Given the description of an element on the screen output the (x, y) to click on. 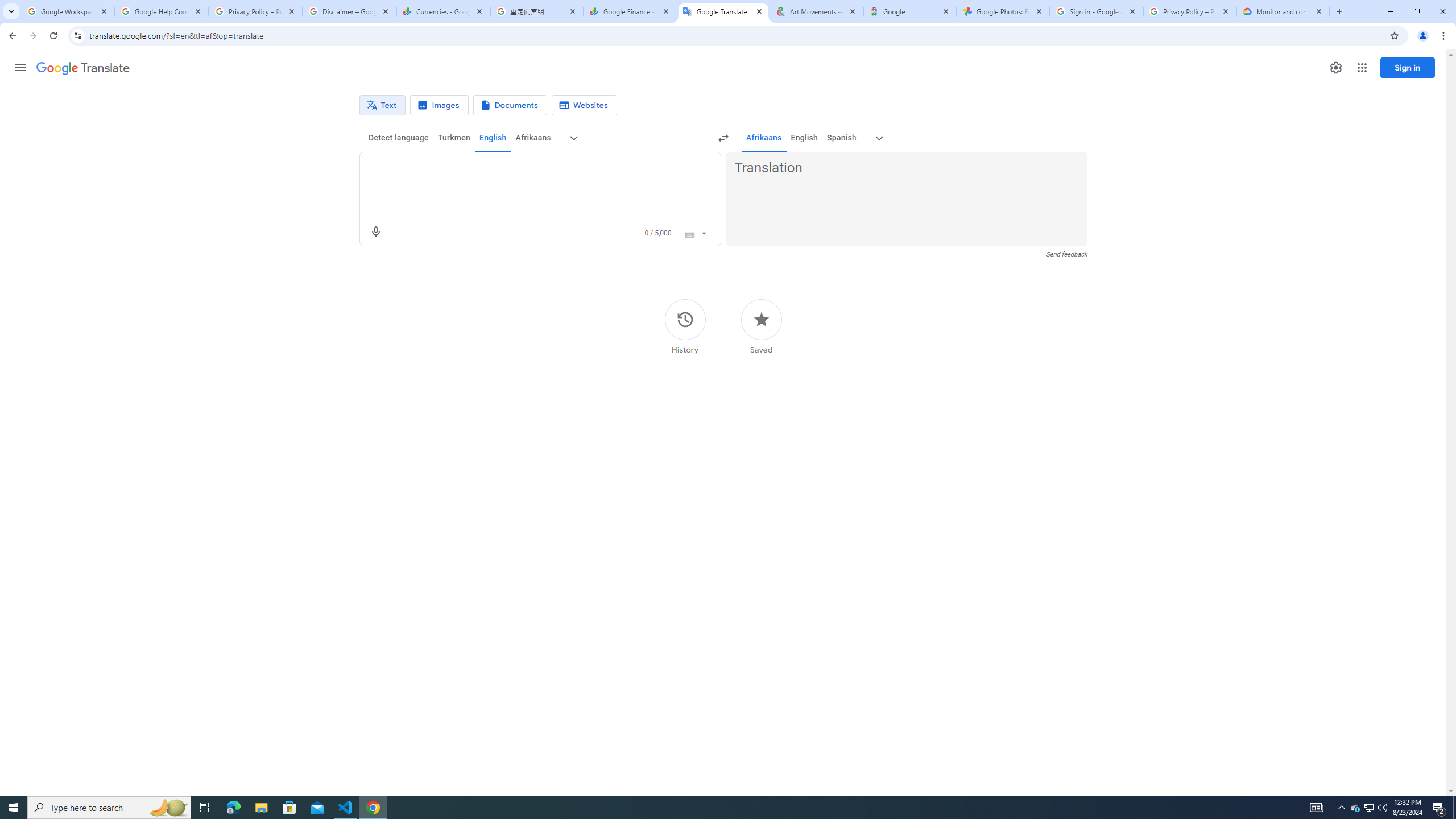
Google Translate (82, 68)
Detect language (398, 137)
Text translation (382, 105)
History (684, 326)
Google Translate (722, 11)
